Given the description of an element on the screen output the (x, y) to click on. 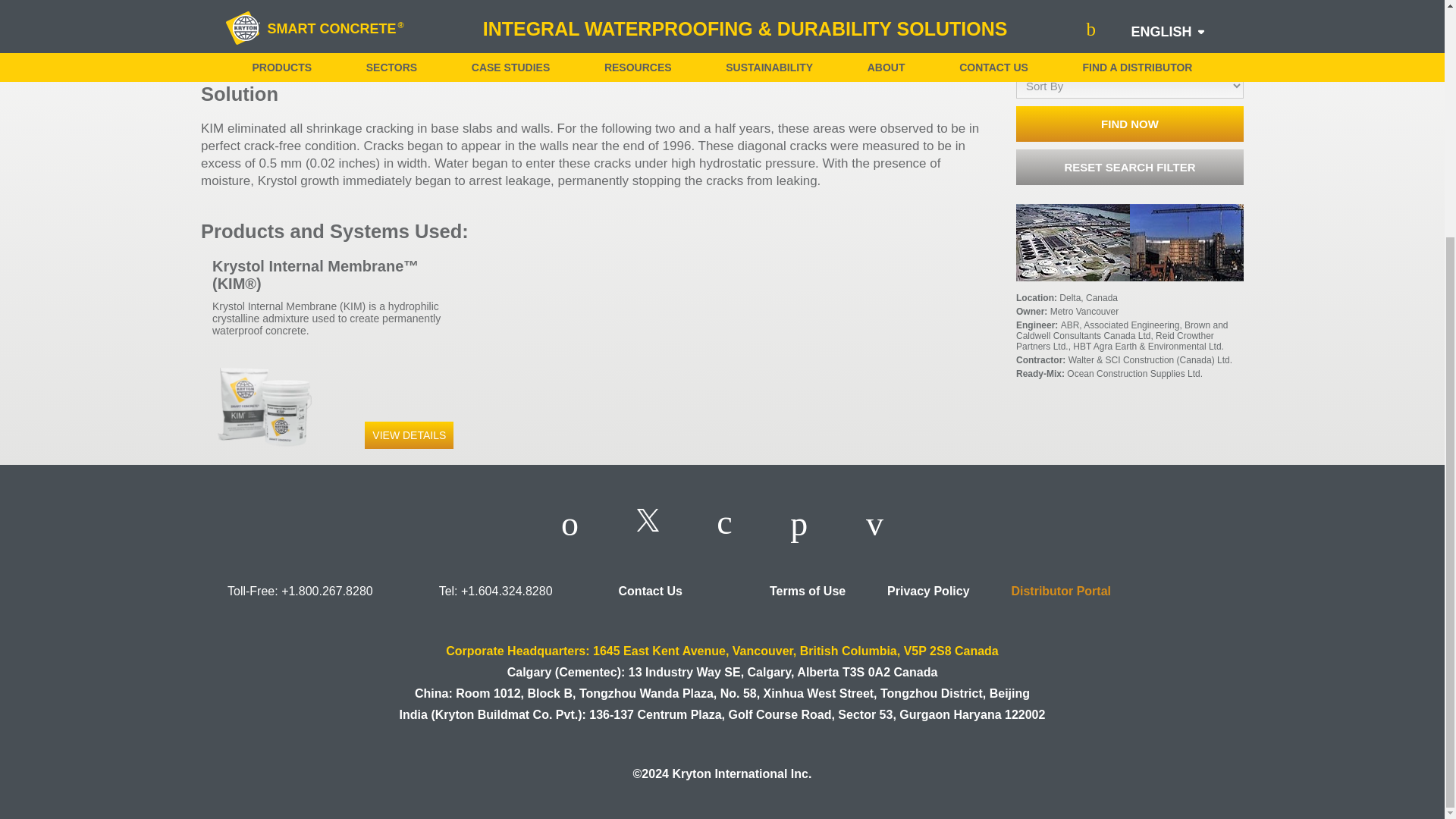
Find Now (1129, 123)
